Given the description of an element on the screen output the (x, y) to click on. 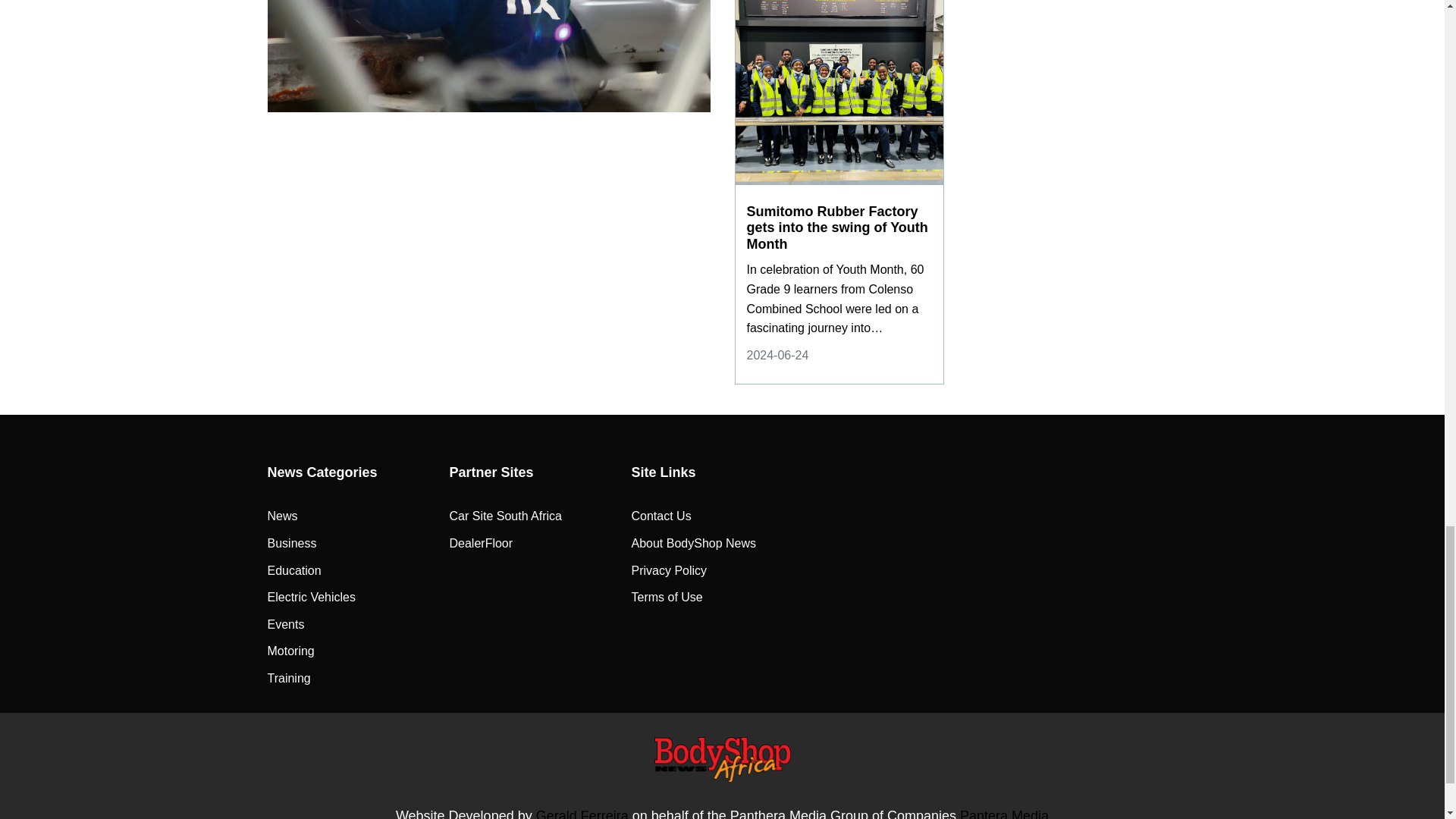
Training (288, 678)
Terms of Use (665, 597)
Privacy Policy (668, 570)
Sumitomo Rubber Factory gets into the swing of Youth Month (838, 228)
Car Site South Africa (505, 516)
Education (293, 570)
Contact Us (660, 516)
Business (290, 543)
DealerFloor (480, 543)
Events (285, 624)
About BodyShop News (692, 543)
Gerald Ferreira (581, 813)
Pantera Media (1003, 813)
Electric Vehicles (310, 597)
News (281, 516)
